Given the description of an element on the screen output the (x, y) to click on. 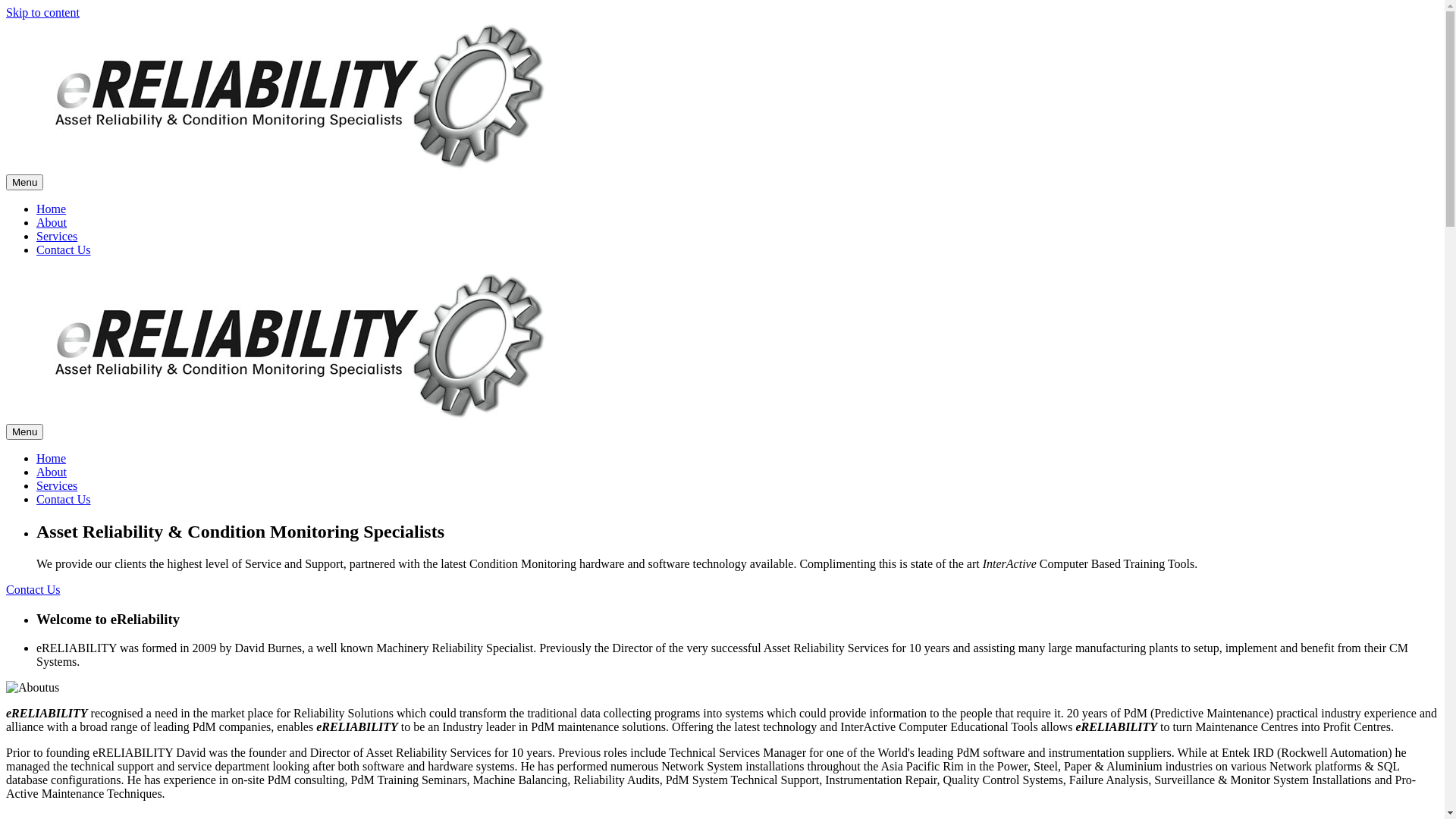
Menu Element type: text (24, 182)
Contact Us Element type: text (63, 249)
Aboutus Element type: hover (32, 687)
Services Element type: text (56, 235)
Menu Element type: text (24, 431)
Contact Us Element type: text (63, 498)
Contact Us Element type: text (33, 589)
About Element type: text (51, 471)
Home Element type: text (50, 457)
Skip to content Element type: text (42, 12)
About Element type: text (51, 222)
Services Element type: text (56, 485)
Home Element type: text (50, 208)
